Given the description of an element on the screen output the (x, y) to click on. 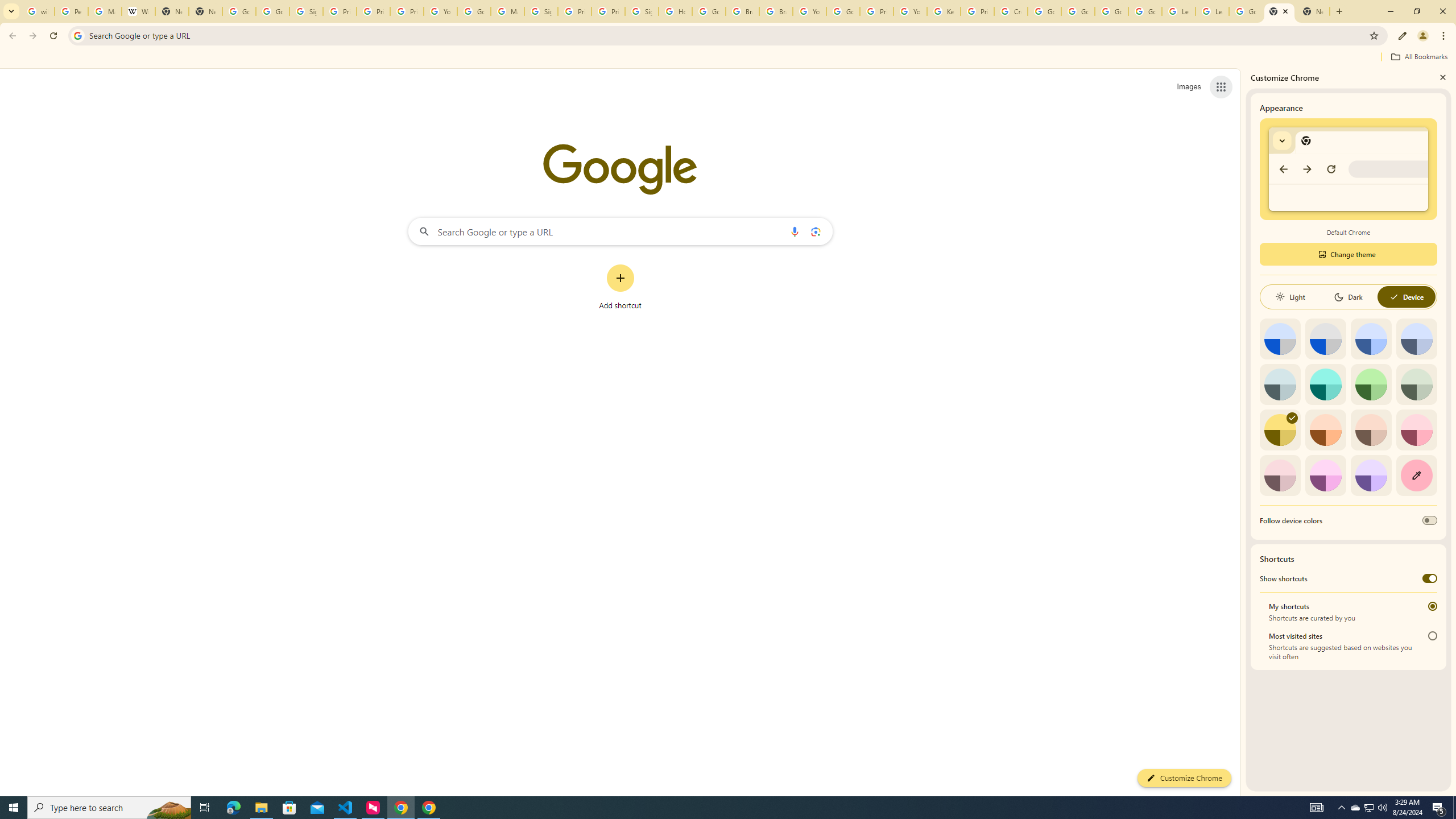
Orange (1325, 429)
YouTube (441, 11)
Dark (1348, 296)
Green (1371, 383)
Customize Chrome (1402, 35)
Sign in - Google Accounts (641, 11)
Google Account Help (842, 11)
Google Account Help (1144, 11)
Wikipedia:Edit requests - Wikipedia (138, 11)
Blue (1371, 338)
